Given the description of an element on the screen output the (x, y) to click on. 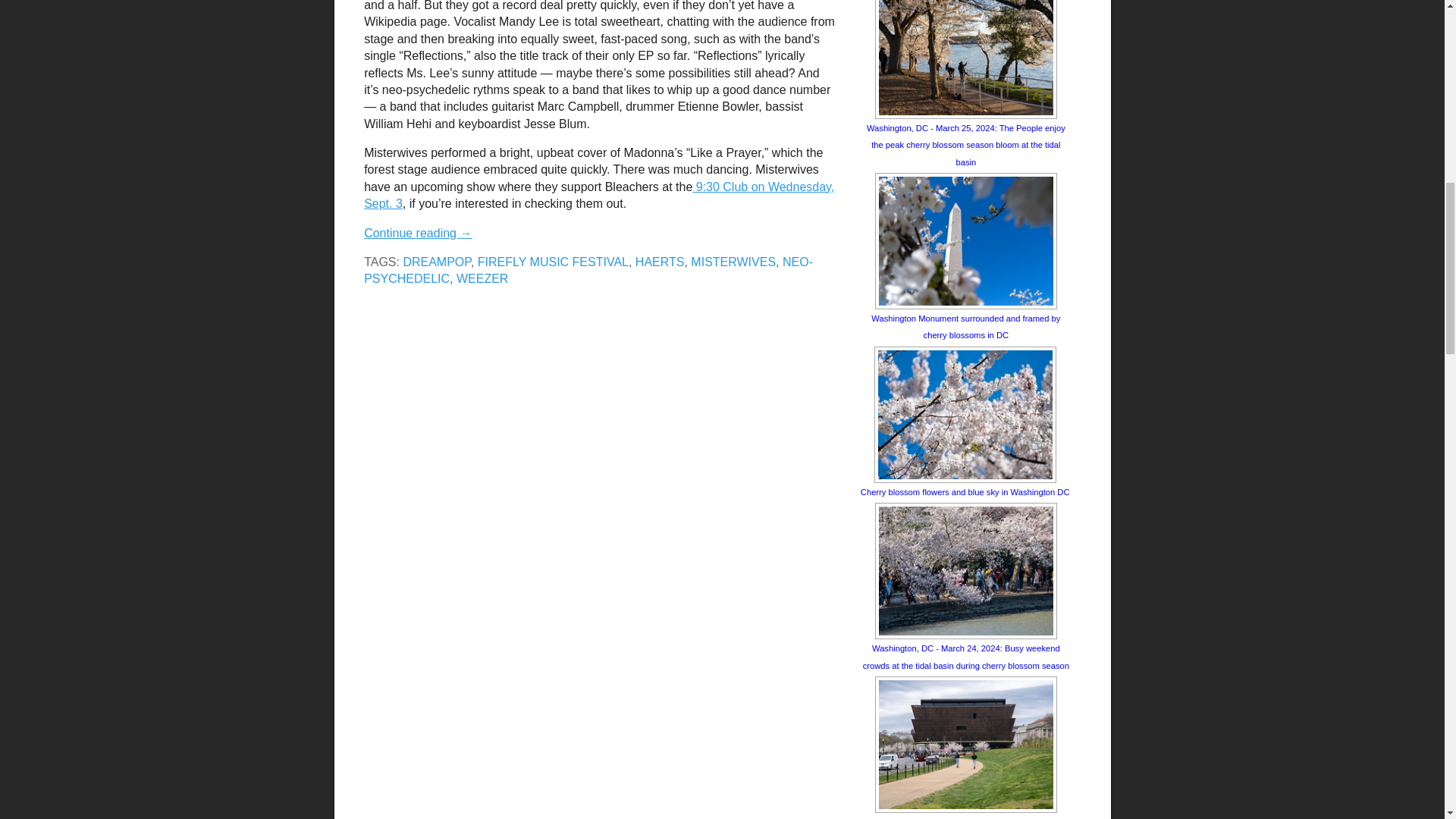
HAERTS (659, 261)
WEEZER (482, 278)
MISTERWIVES (733, 261)
DREAMPOP (436, 261)
FIREFLY MUSIC FESTIVAL (552, 261)
